Given the description of an element on the screen output the (x, y) to click on. 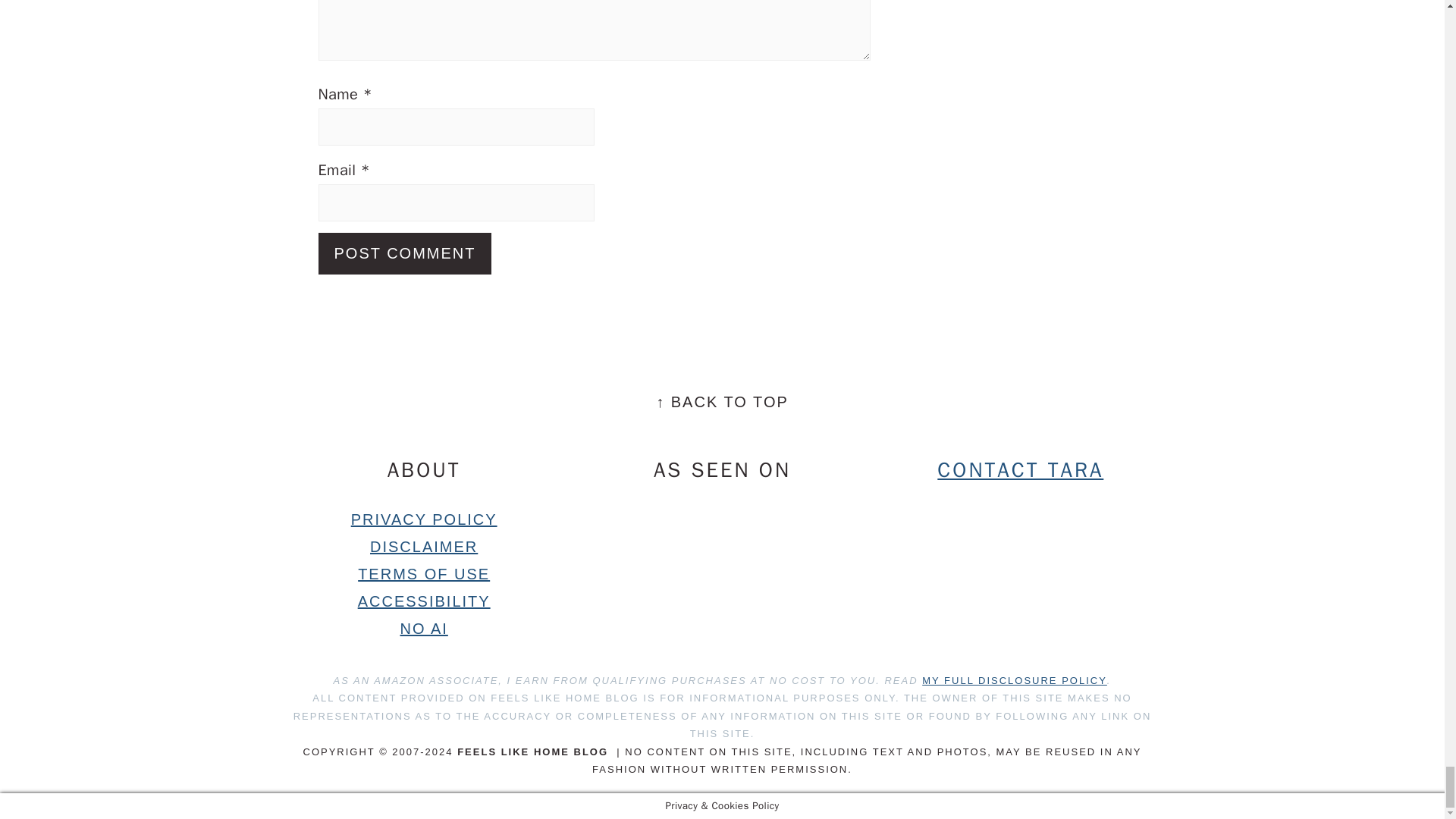
Post Comment (405, 253)
